Given the description of an element on the screen output the (x, y) to click on. 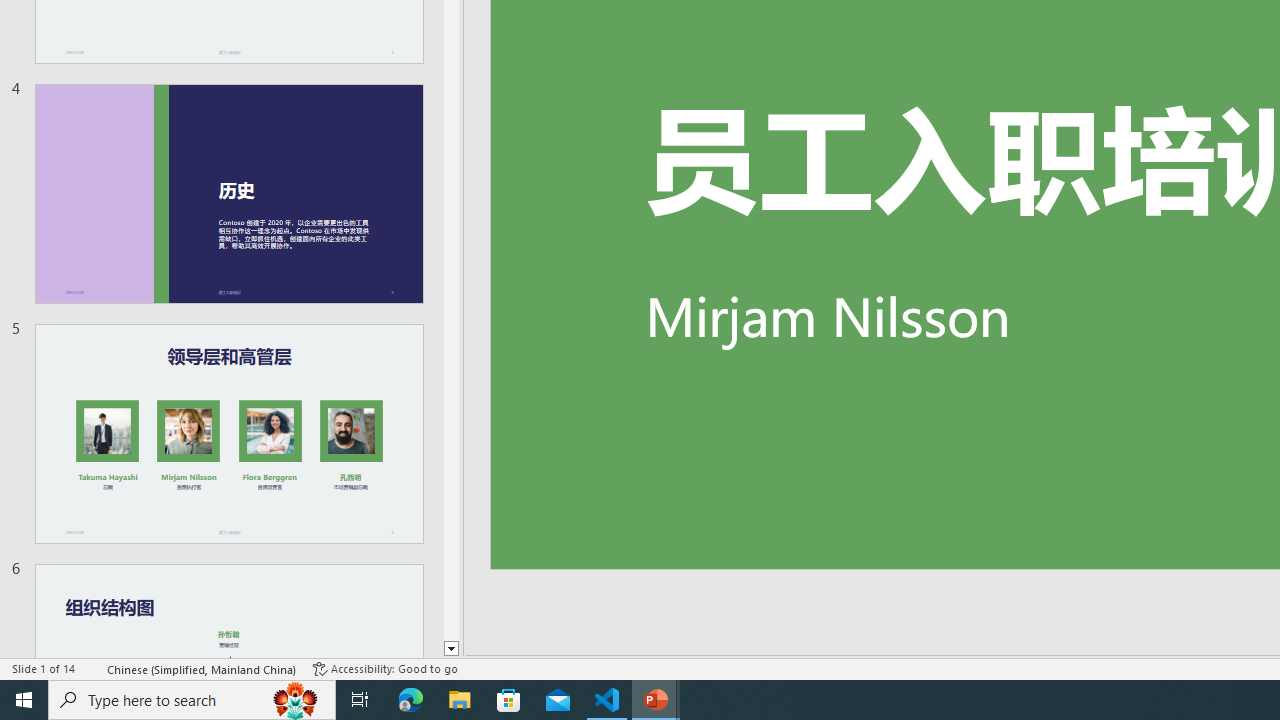
Spell Check  (92, 668)
PowerPoint - 2 running windows (656, 699)
